Given the description of an element on the screen output the (x, y) to click on. 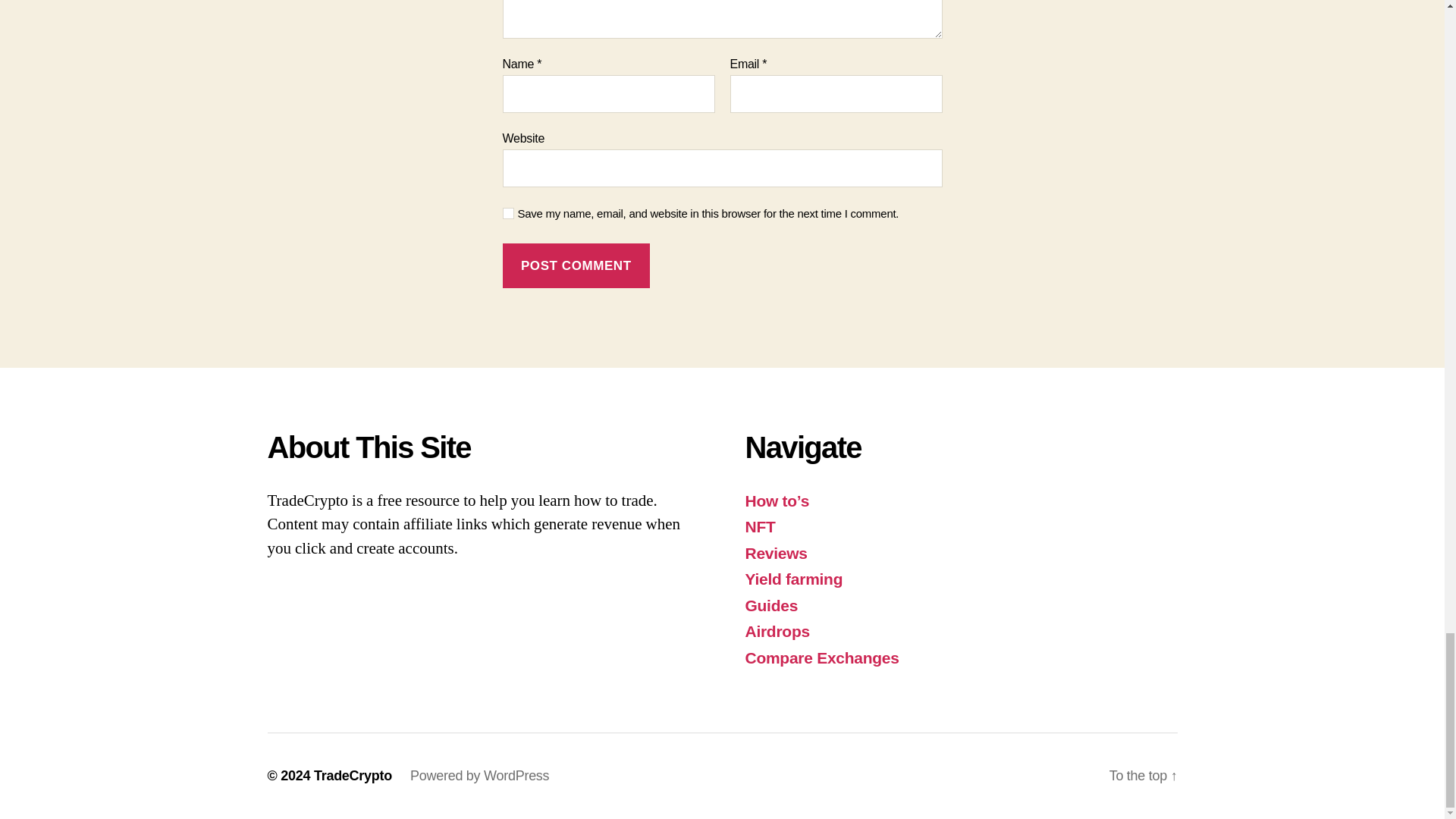
Yield farming (793, 579)
Reviews (775, 552)
Compare Exchanges (821, 657)
Post Comment (575, 265)
Powered by WordPress (479, 775)
TradeCrypto (352, 775)
yes (507, 213)
Guides (770, 605)
NFT (759, 526)
Post Comment (575, 265)
Airdrops (776, 630)
